Given the description of an element on the screen output the (x, y) to click on. 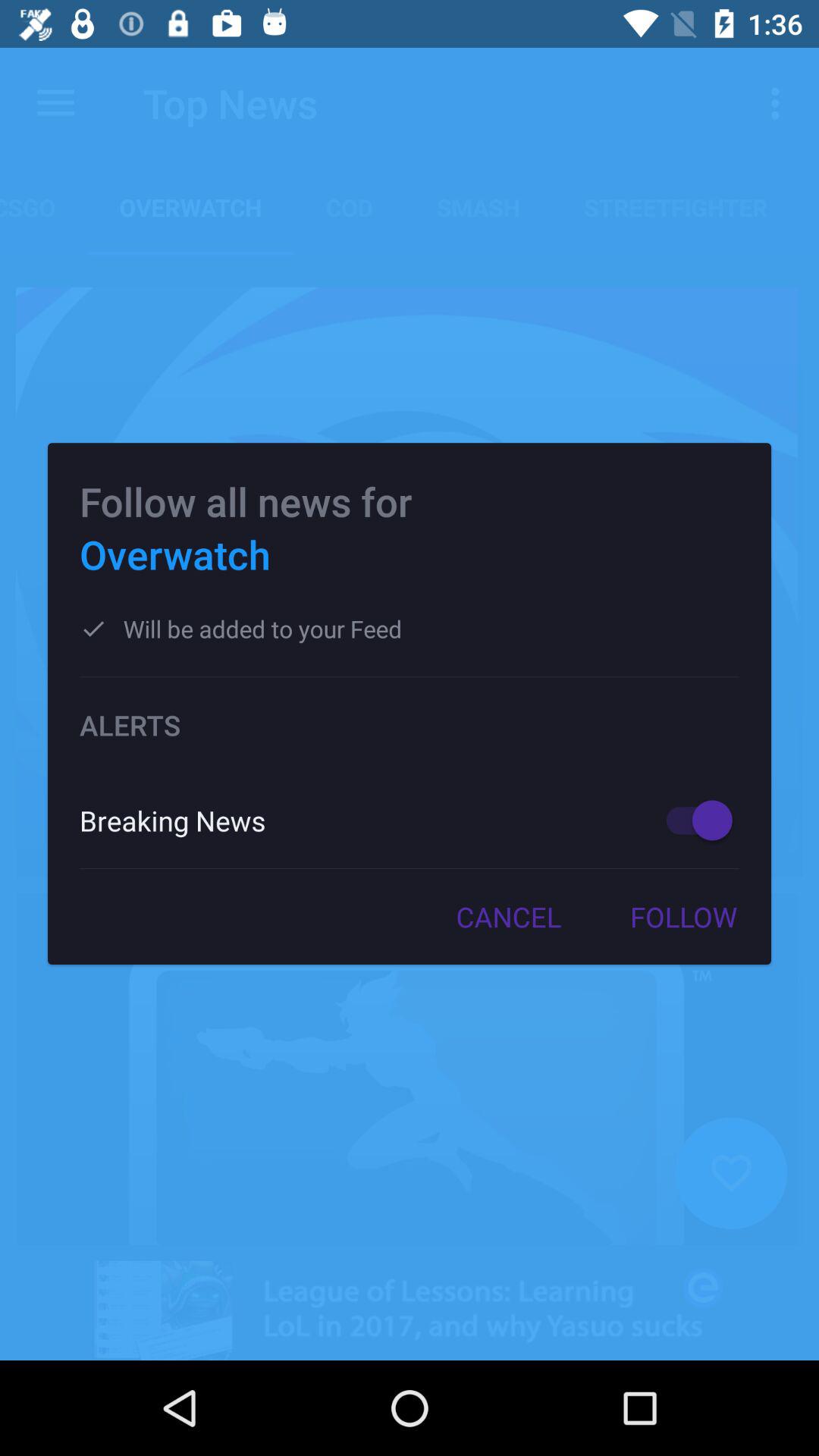
select item next to the breaking news item (691, 820)
